Given the description of an element on the screen output the (x, y) to click on. 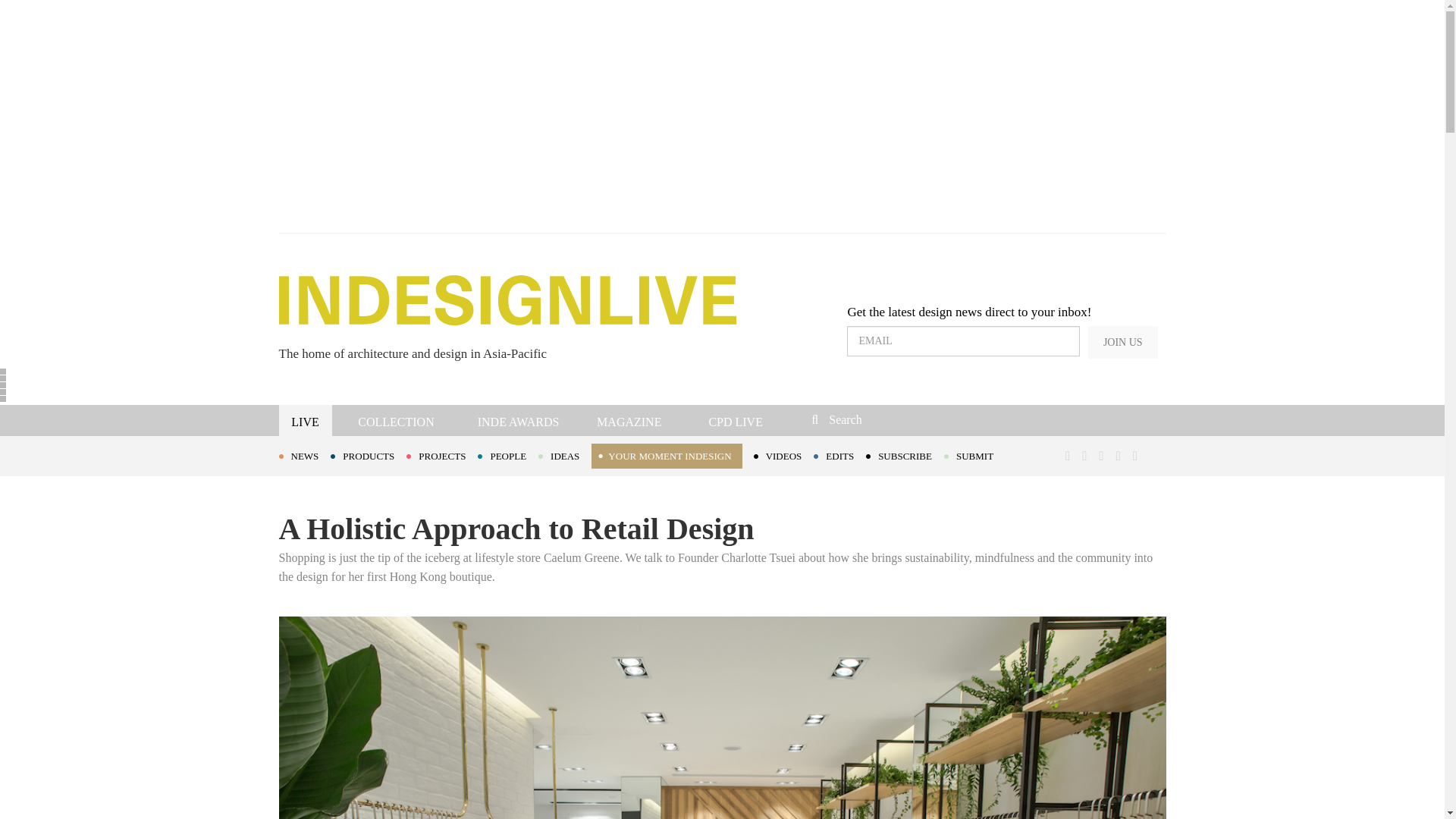
IDEAS (564, 455)
PEOPLE (507, 455)
SUBMIT (974, 455)
JOIN US (1122, 341)
YOUR MOMENT INDESIGN (666, 455)
EDITS (839, 455)
PRODUCTS (368, 455)
PROJECTS (441, 455)
NEWS (305, 455)
VIDEOS (783, 455)
Search (913, 418)
SUBSCRIBE (904, 455)
